Given the description of an element on the screen output the (x, y) to click on. 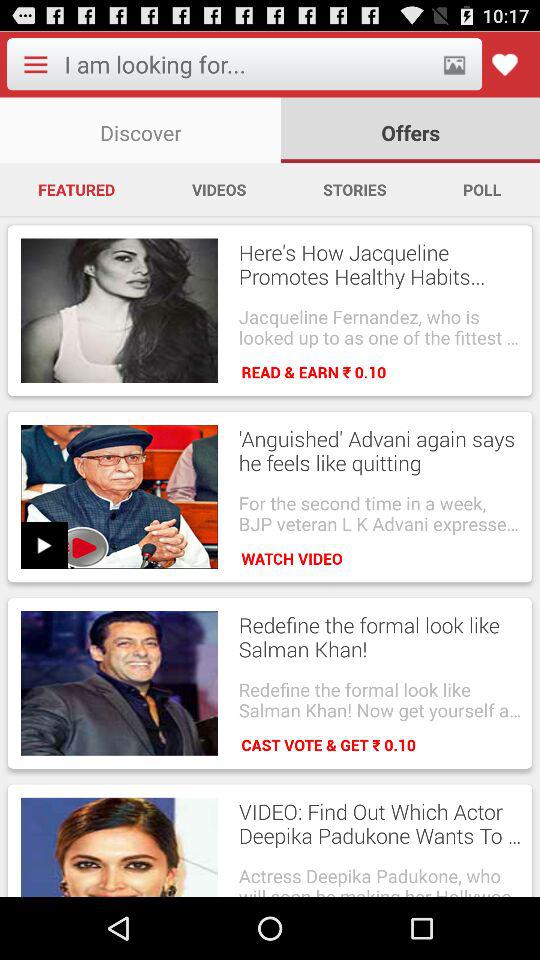
press the item next to videos app (76, 189)
